Given the description of an element on the screen output the (x, y) to click on. 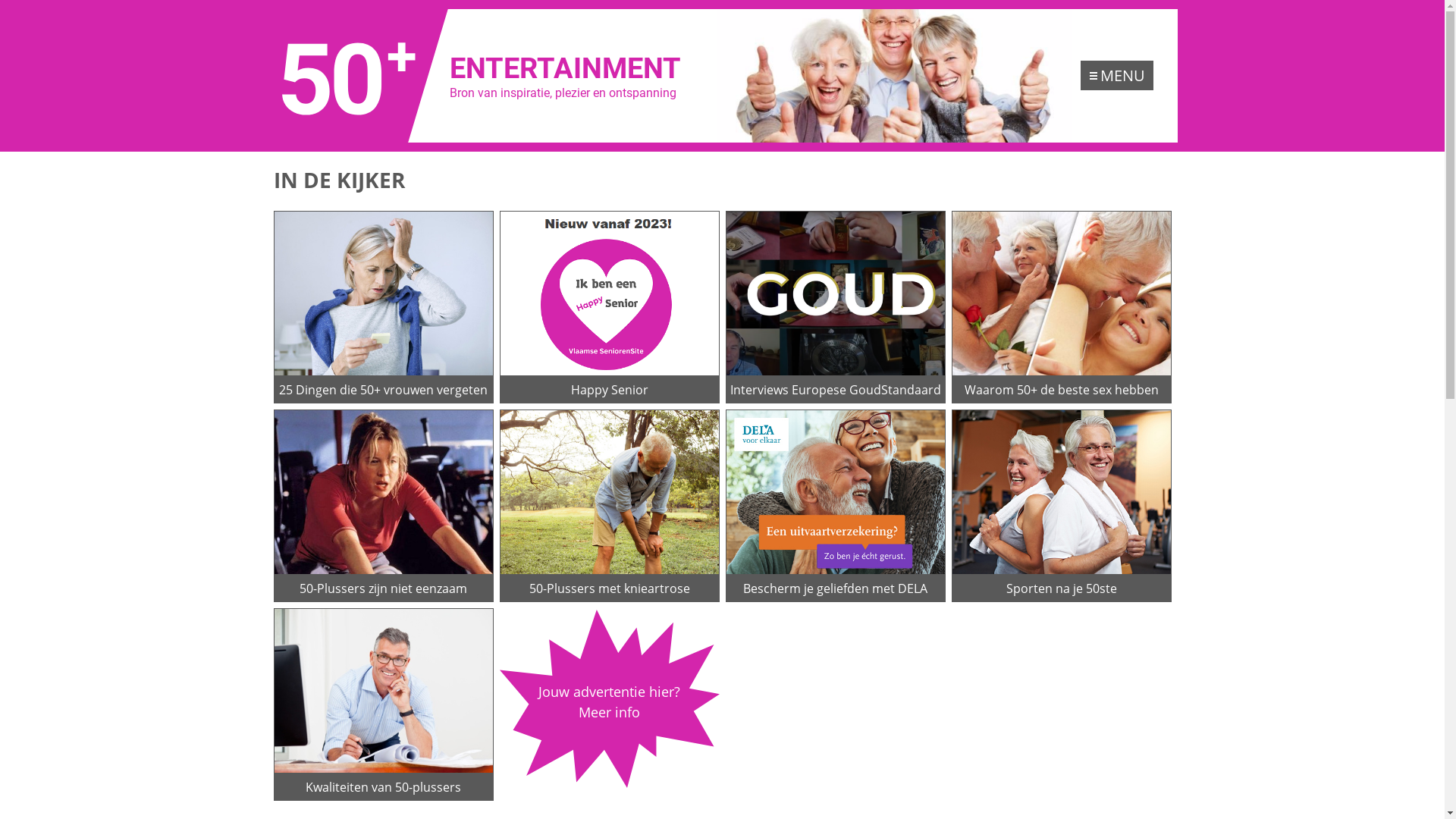
Happy Senior Element type: text (608, 306)
Interviews Europese GoudStandaard Element type: text (834, 306)
MENU Element type: text (1115, 75)
ENTERTAINMENT
Bron van inspiratie, plezier en ontspanning Element type: text (489, 75)
Sporten na je 50ste Element type: text (1060, 505)
25 Dingen die 50+ vrouwen vergeten Element type: text (382, 306)
50-Plussers met knieartrose Element type: text (608, 505)
Kwaliteiten van 50-plussers Element type: text (382, 704)
Waarom 50+ de beste sex hebben Element type: text (1060, 306)
Jouw advertentie hier? Meer info Element type: text (608, 699)
50-Plussers zijn niet eenzaam Element type: text (382, 505)
Bescherm je geliefden met DELA Element type: text (834, 505)
